Given the description of an element on the screen output the (x, y) to click on. 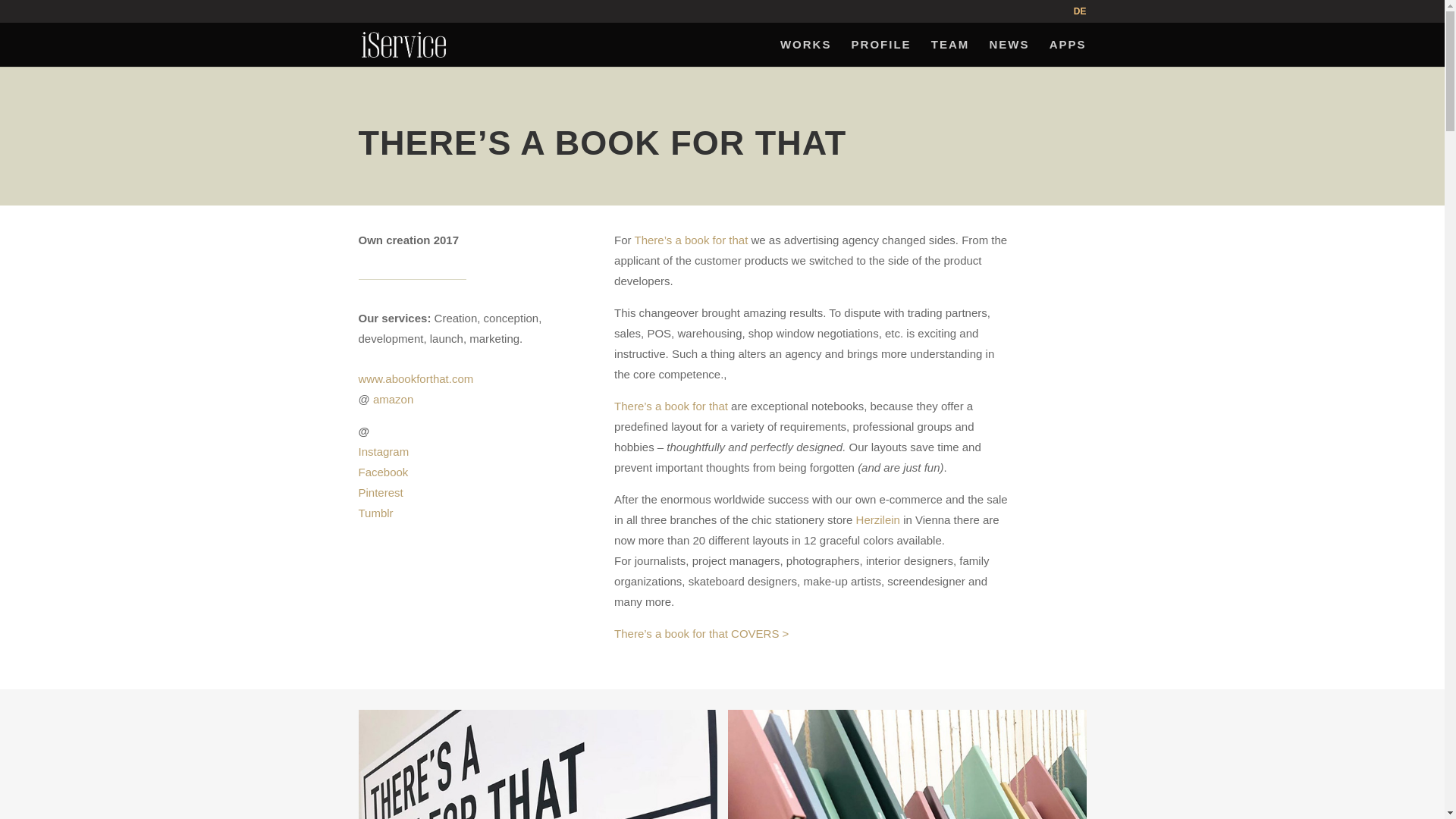
Facebook (382, 472)
www.abookforthat.com (415, 378)
Herzilein (877, 519)
NEWS (1008, 52)
Instagram (383, 451)
APPS (1067, 52)
WORKS (805, 52)
Tumblr (375, 512)
amazon (392, 399)
PROFILE (881, 52)
